Given the description of an element on the screen output the (x, y) to click on. 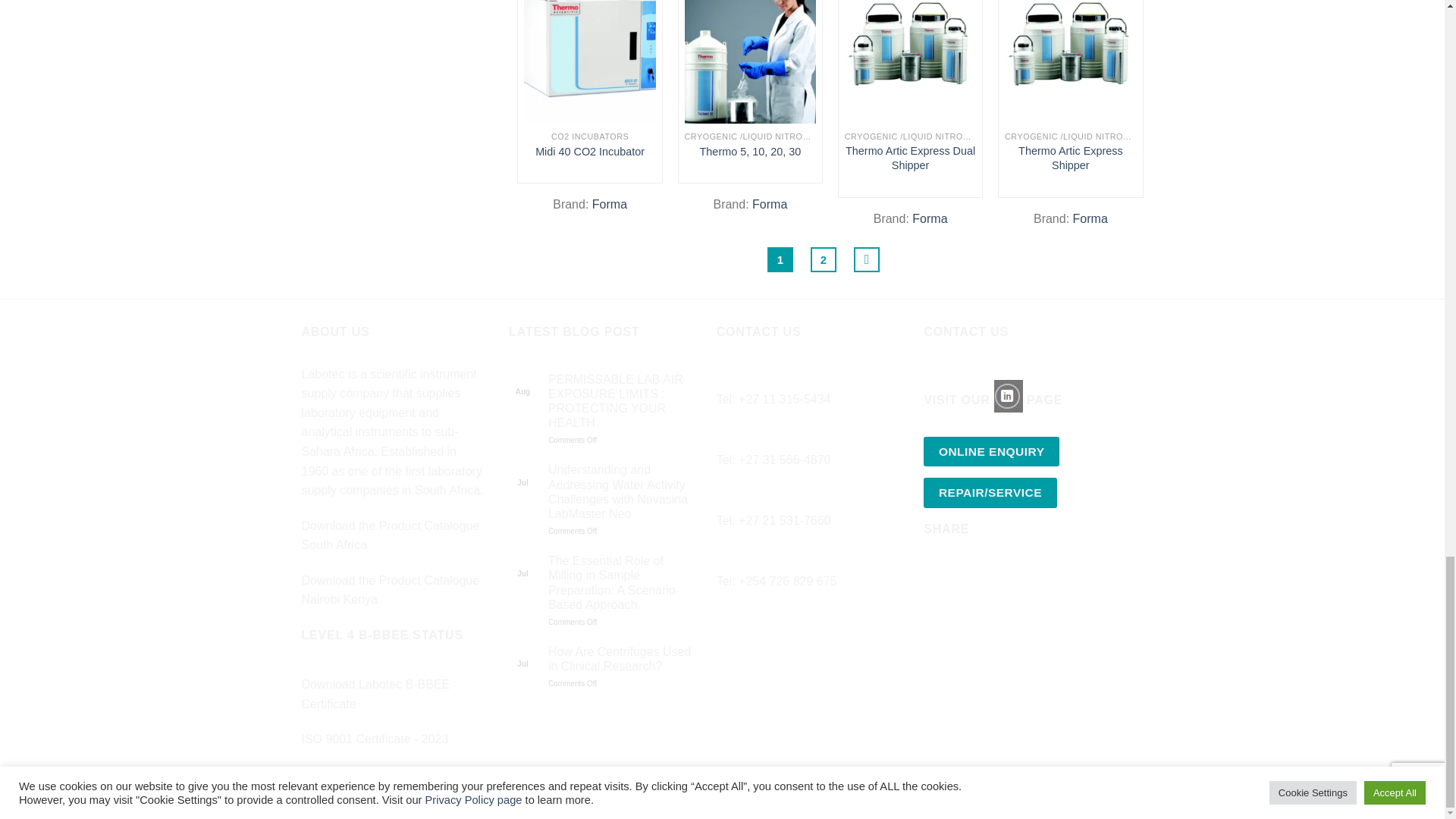
Share on LinkedIn (1019, 573)
Share on Facebook (937, 573)
Email to a Friend (991, 573)
How Are Centrifuges Used in Clinical Research? (621, 658)
Share on Twitter (964, 573)
PERMISSABLE LAB AIR EXPOSURE LIMITS : PROTECTING YOUR HEALTH (621, 401)
